Given the description of an element on the screen output the (x, y) to click on. 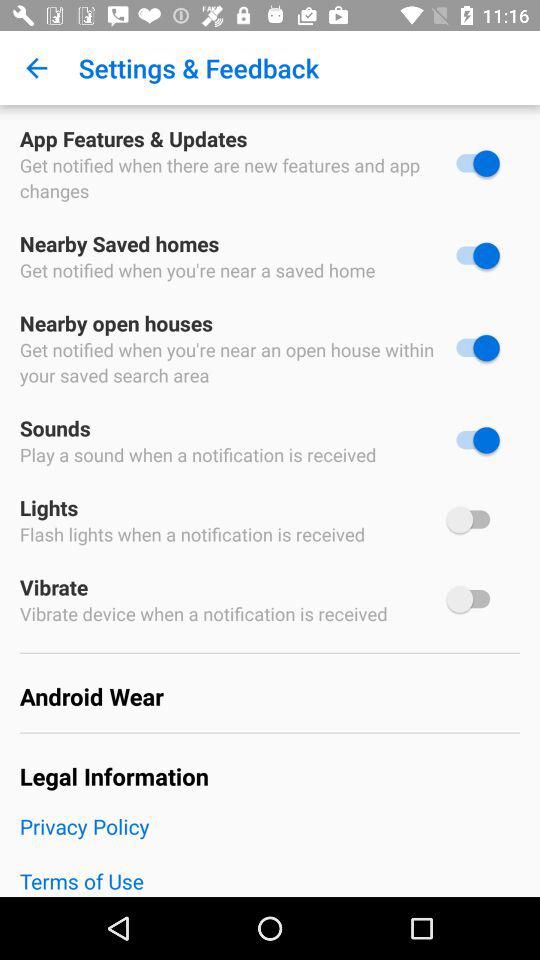
toggle device vibrate on (473, 599)
